Given the description of an element on the screen output the (x, y) to click on. 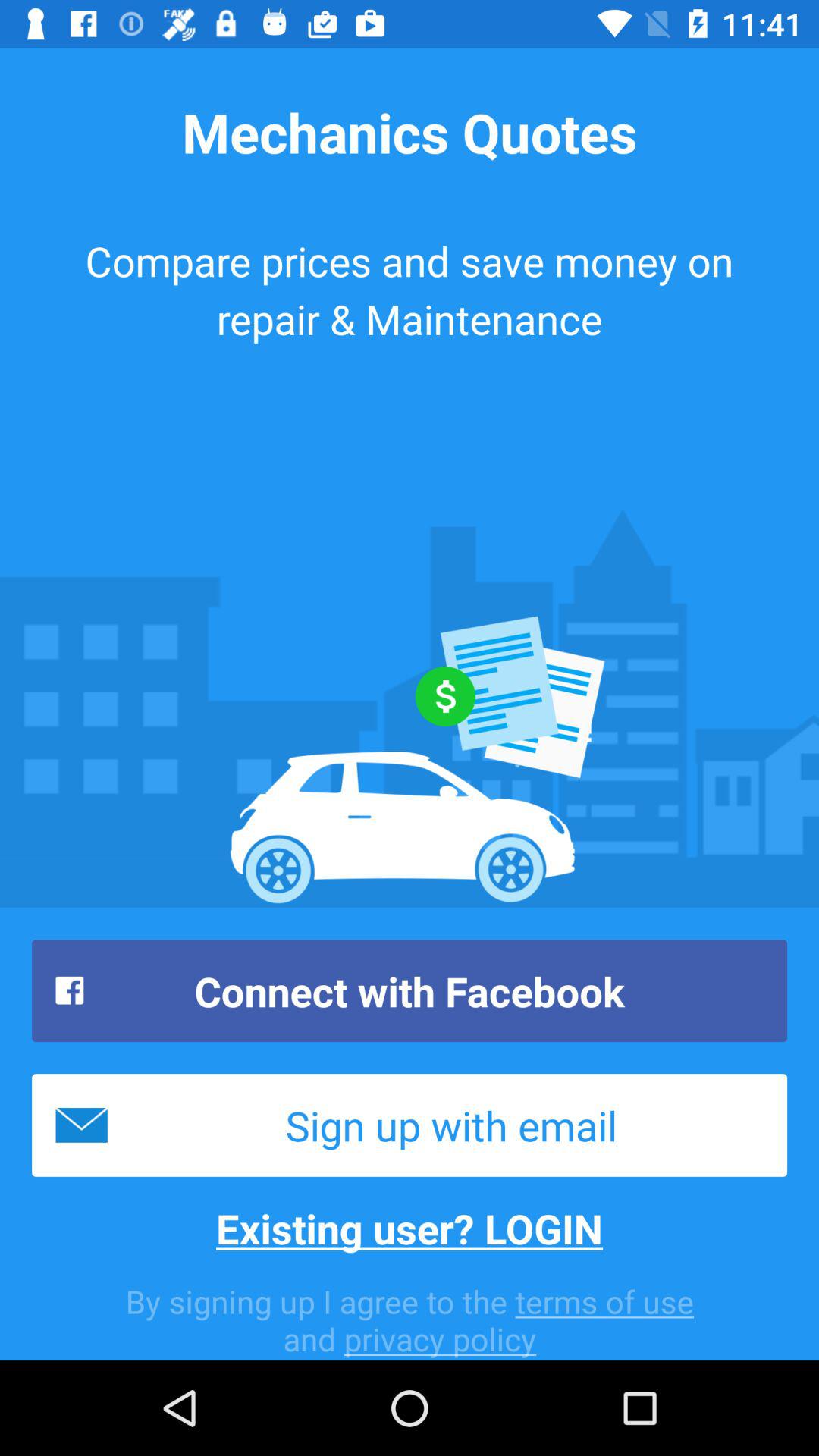
jump until connect with facebook (409, 990)
